Given the description of an element on the screen output the (x, y) to click on. 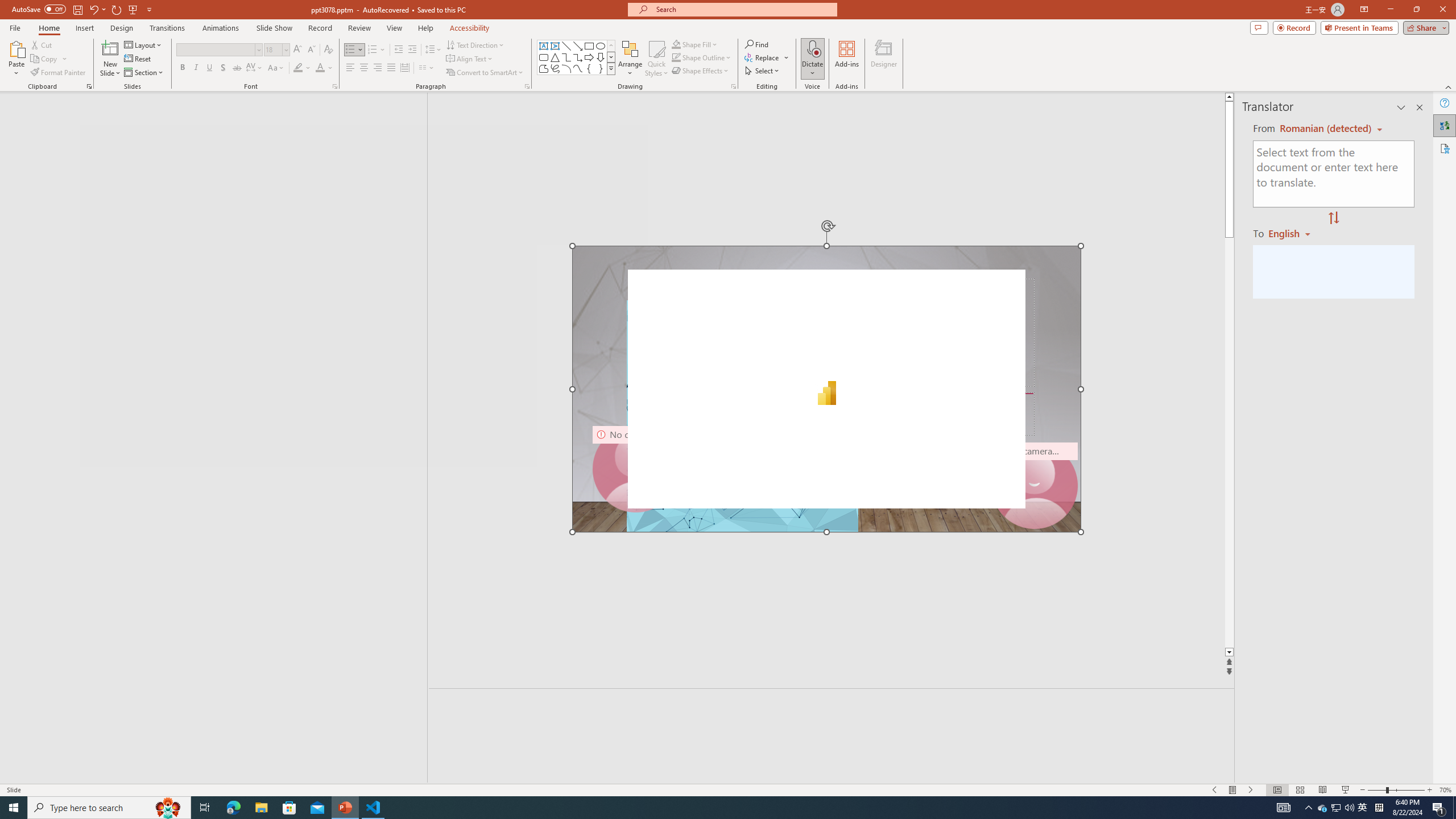
An abstract genetic concept (826, 389)
